Given the description of an element on the screen output the (x, y) to click on. 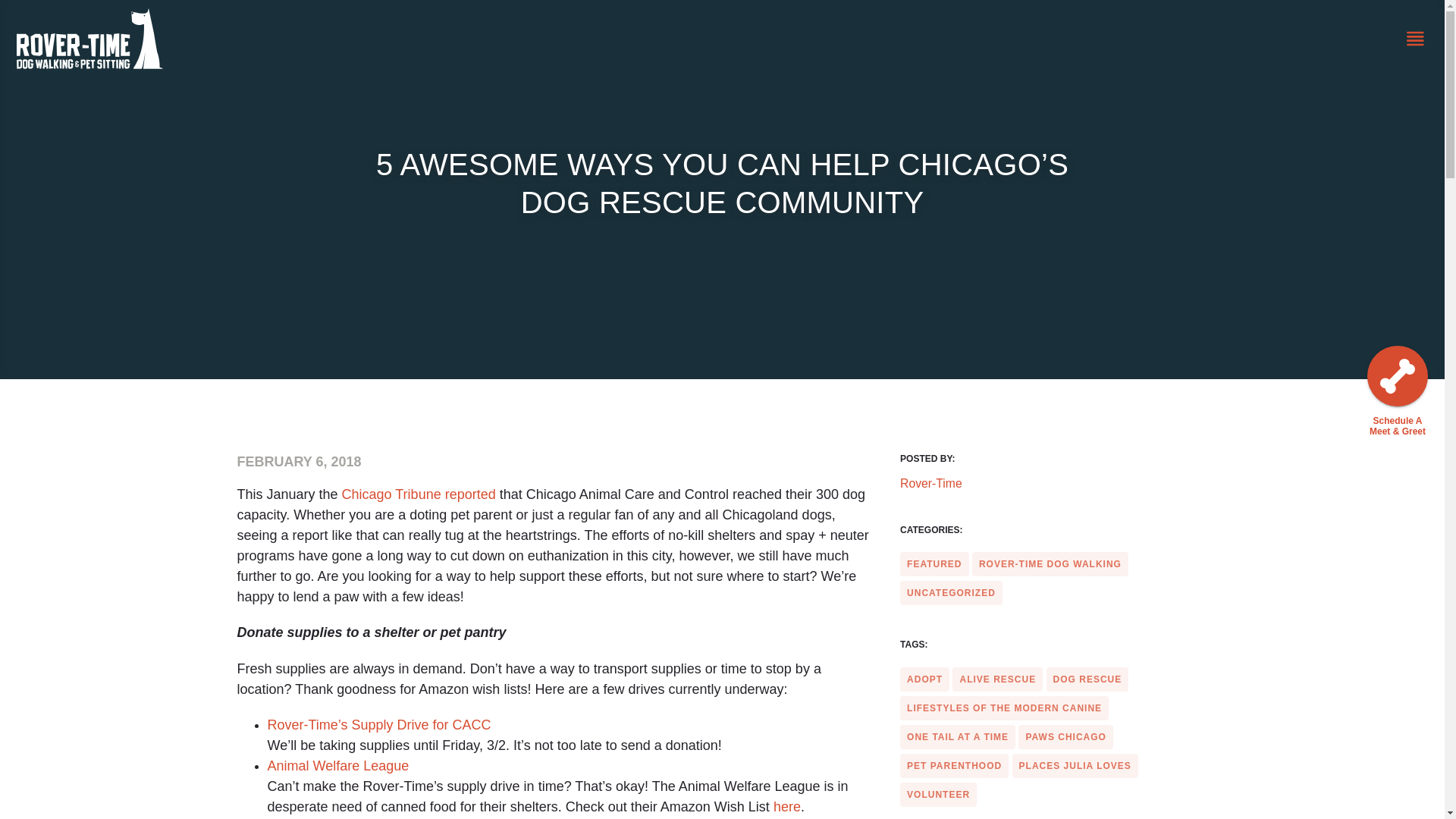
Animal Welfare League (337, 765)
here (786, 806)
Chicago Tribune reported (420, 494)
